Given the description of an element on the screen output the (x, y) to click on. 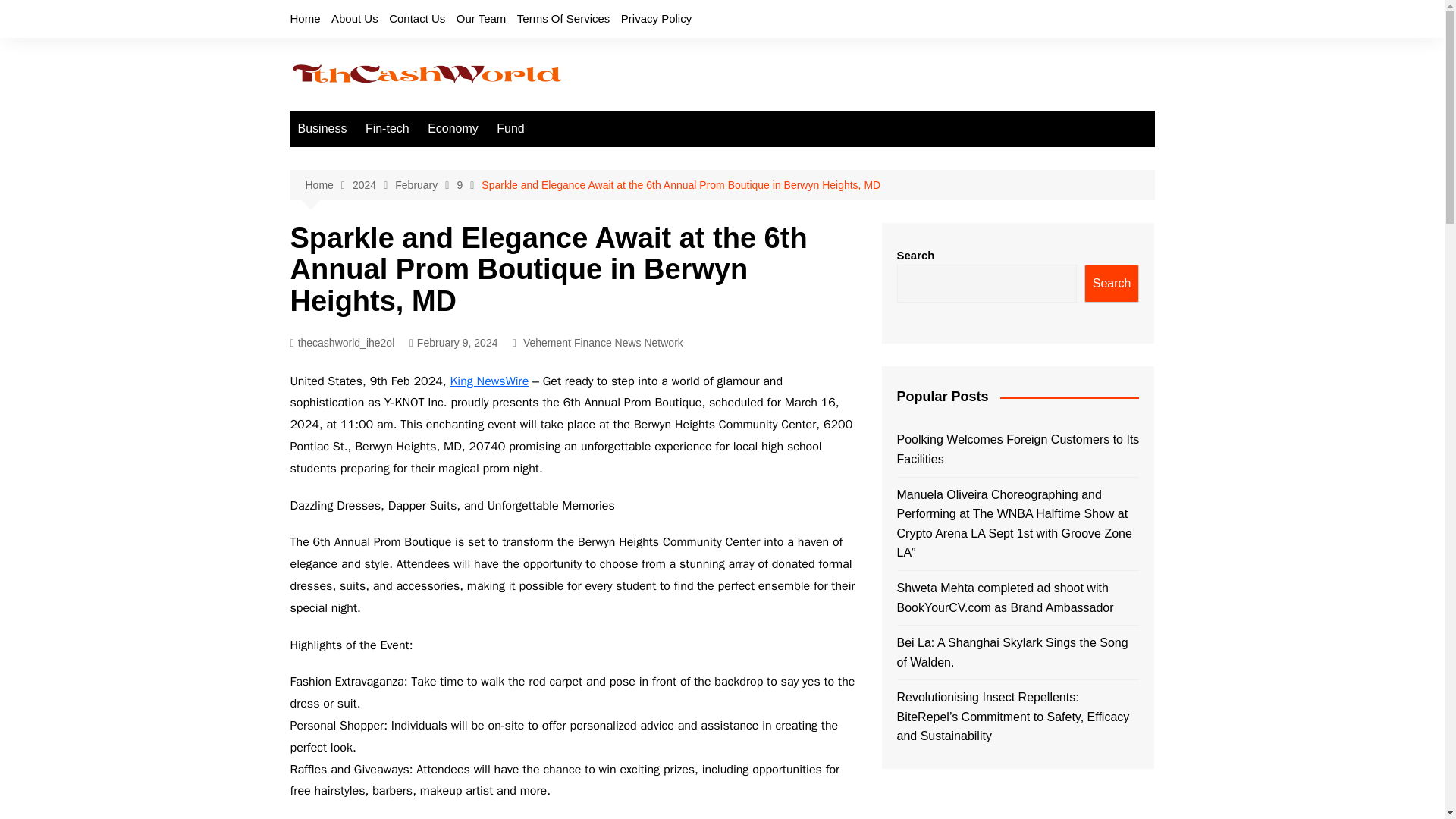
2024 (373, 185)
Home (304, 18)
Business (321, 128)
Fin-tech (387, 128)
February (425, 185)
Fund (510, 128)
King NewsWire (488, 381)
Terms Of Services (563, 18)
Contact Us (416, 18)
Our Team (481, 18)
February 9, 2024 (453, 343)
9 (469, 185)
Privacy Policy (656, 18)
Economy (453, 128)
